Given the description of an element on the screen output the (x, y) to click on. 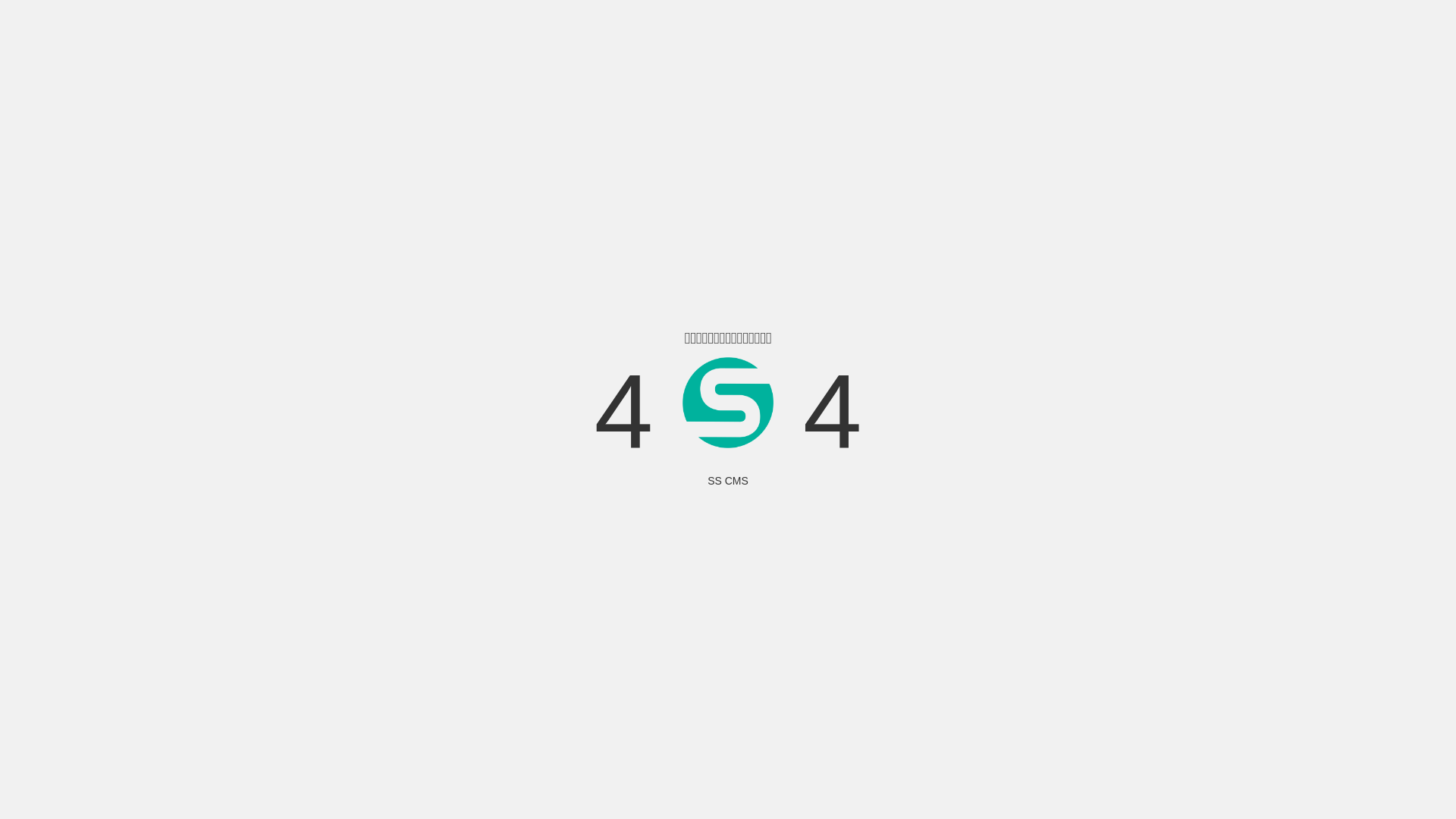
SS CMS Element type: text (727, 480)
